Given the description of an element on the screen output the (x, y) to click on. 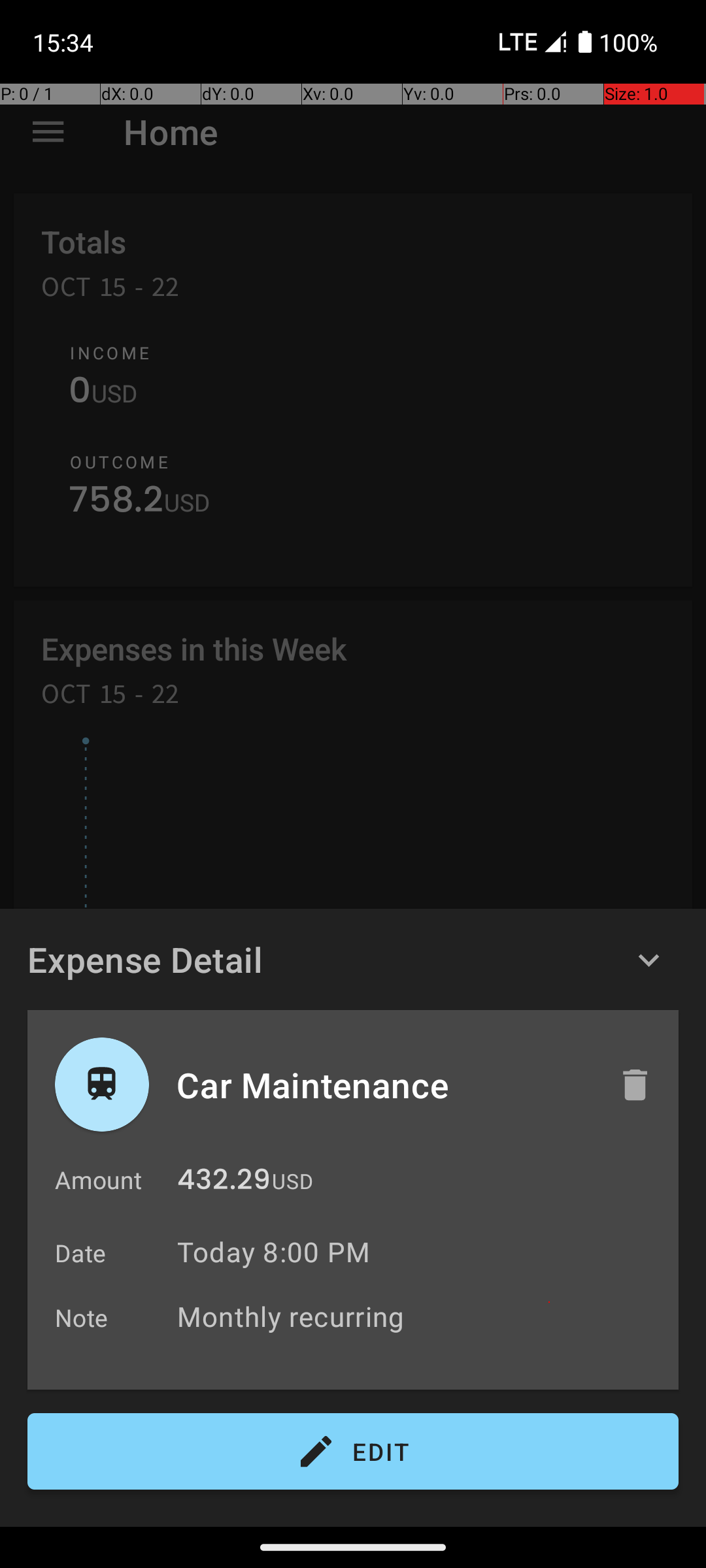
Car Maintenance Element type: android.widget.TextView (383, 1084)
432.29 Element type: android.widget.TextView (223, 1182)
